Given the description of an element on the screen output the (x, y) to click on. 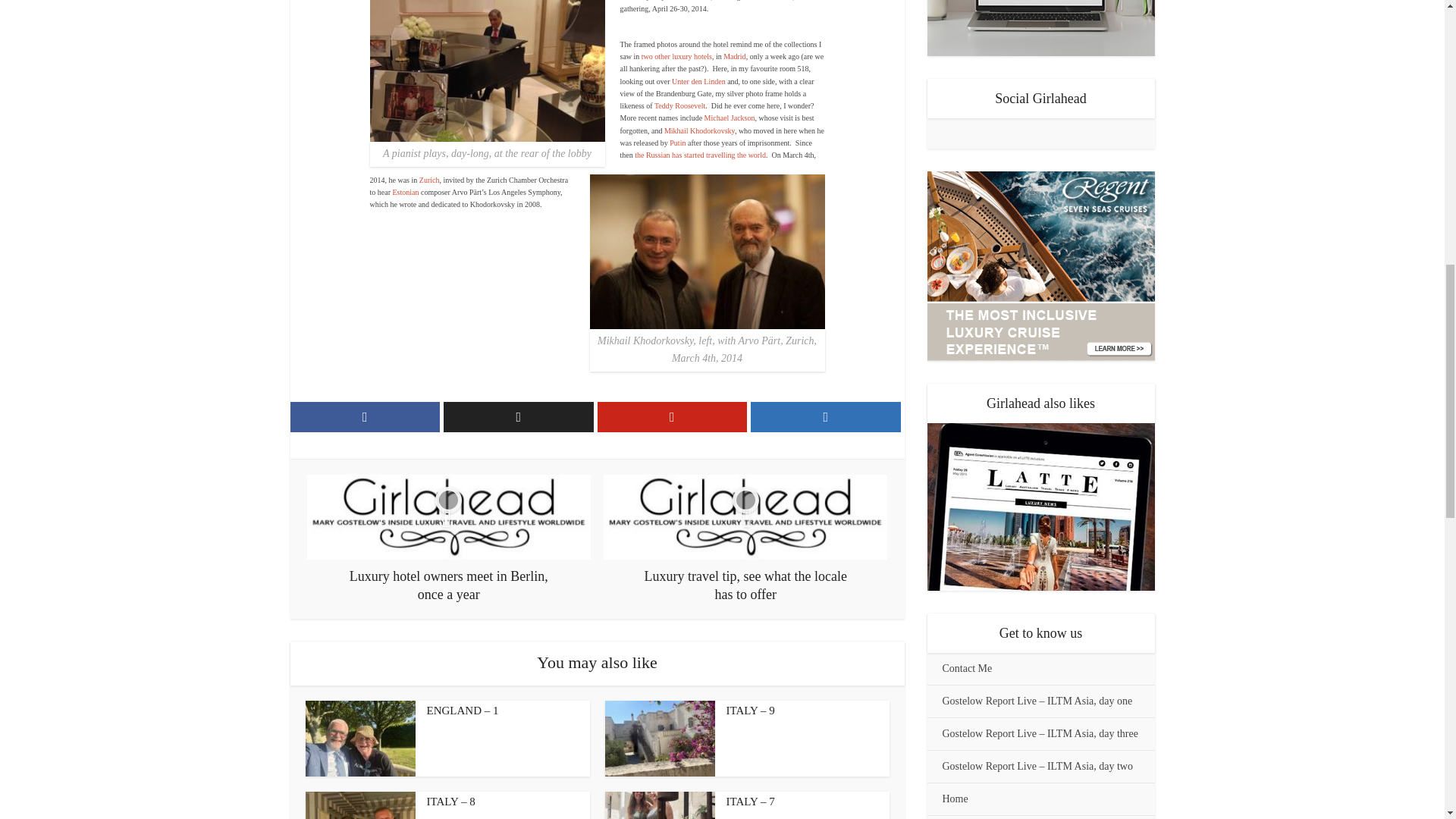
Back in another Madrid luxury hotel, ancient and modern (676, 56)
A stay that is pure gold at the luxury Hotel Adlon Kempinski (698, 80)
A luxury Ritz hotel inspired by a king (734, 56)
